Given the description of an element on the screen output the (x, y) to click on. 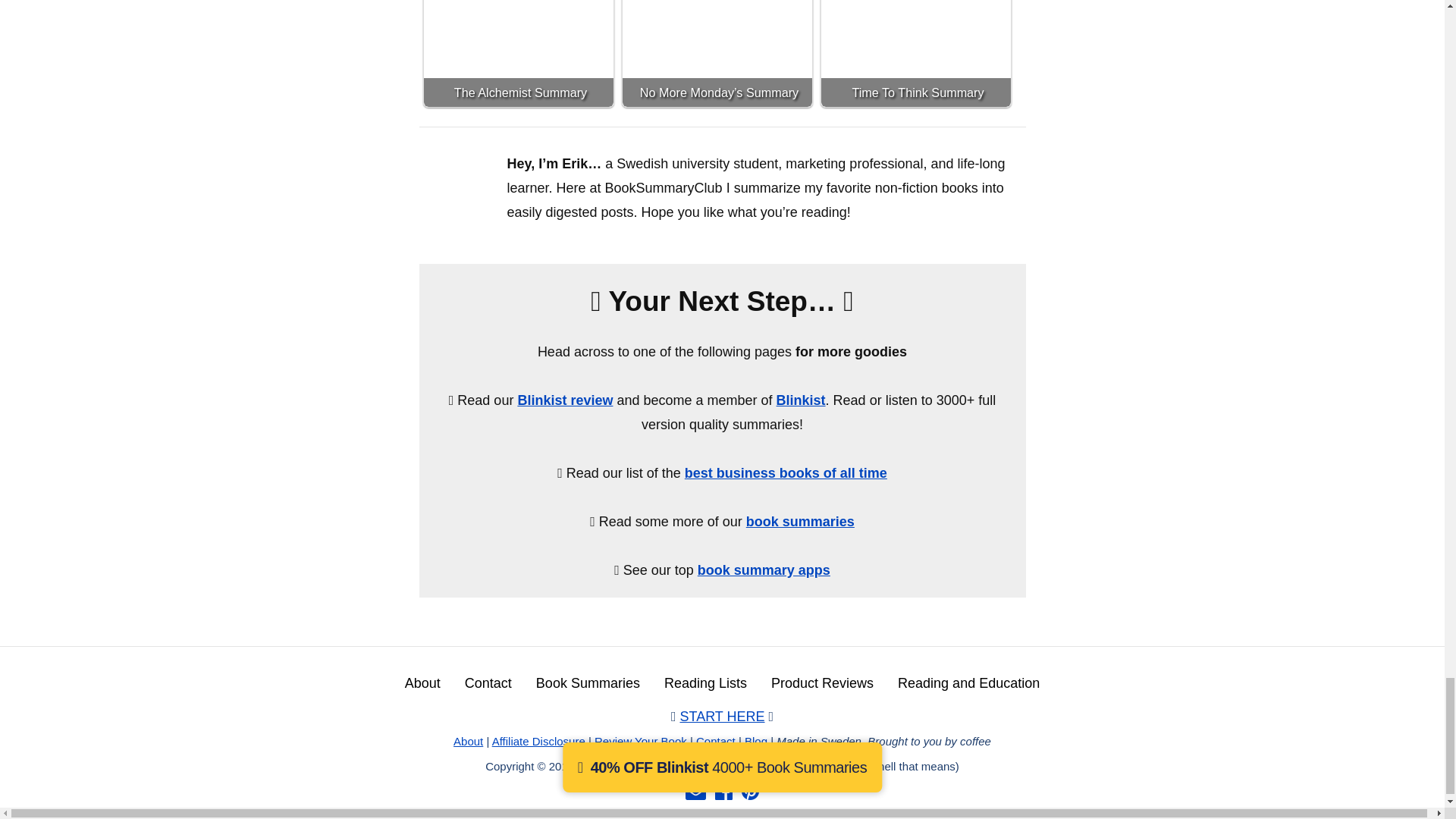
The Alchemist Summary (517, 53)
The Alchemist Summary (517, 53)
Time To Think Summary (915, 53)
